Given the description of an element on the screen output the (x, y) to click on. 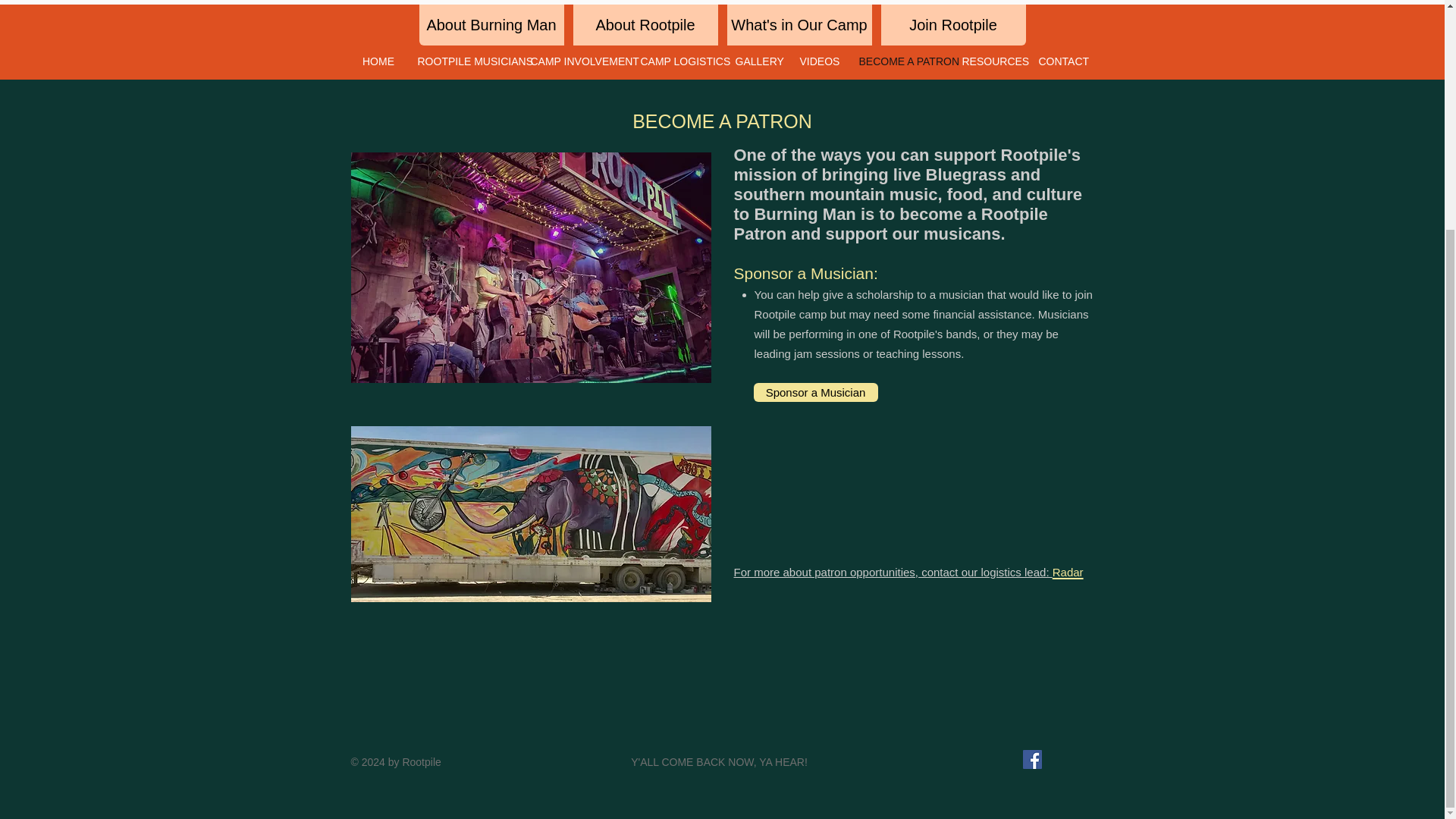
What's in Our Camp (798, 24)
Sponsor a Musician (815, 392)
About Burning Man (491, 24)
CONTACT (1059, 61)
Join Rootpile (953, 24)
ROOTPILE MUSICIANS (462, 61)
CAMP LOGISTICS (675, 61)
About Rootpile (645, 24)
HOME (378, 61)
